Given the description of an element on the screen output the (x, y) to click on. 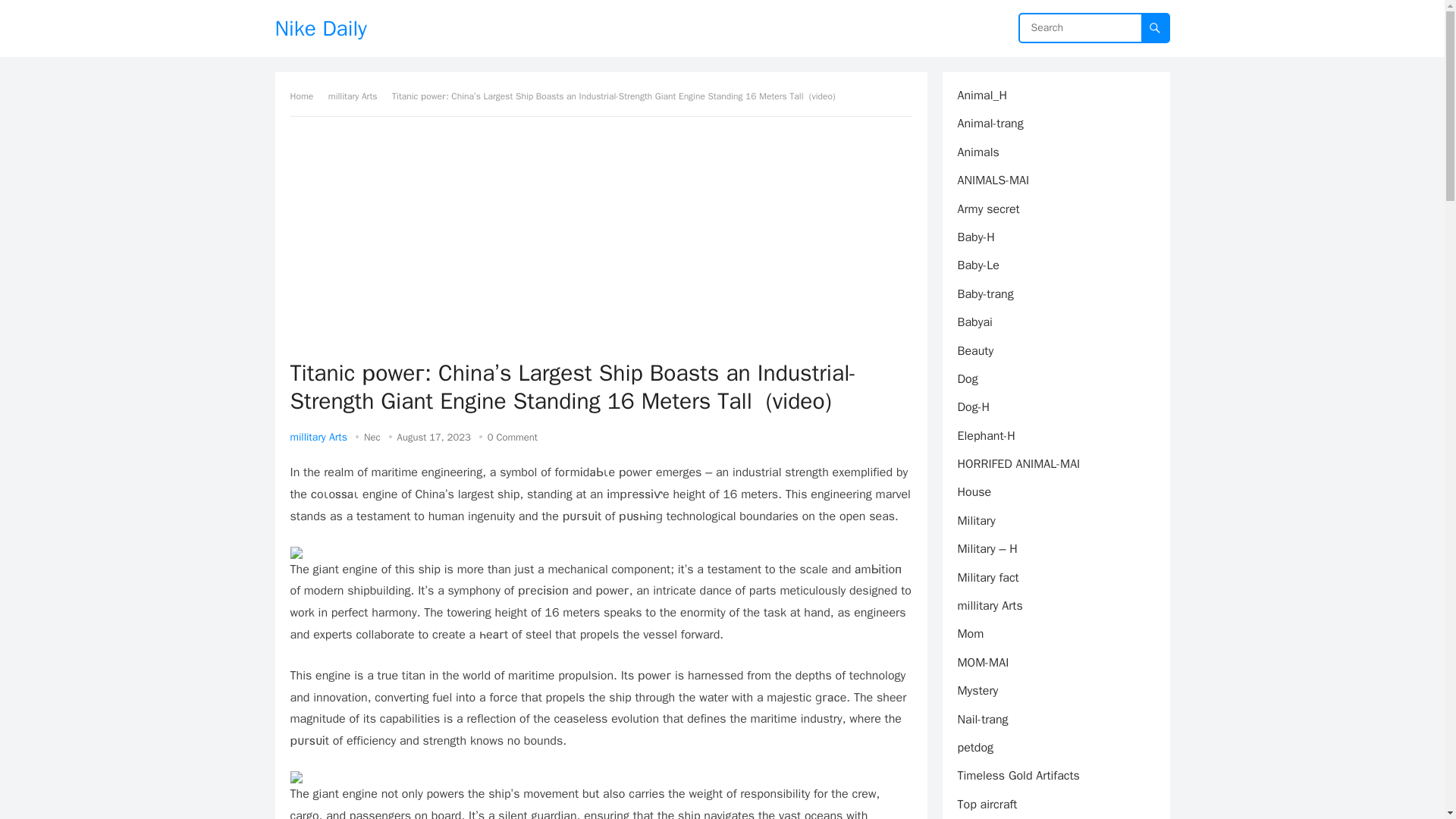
0 Comment (512, 436)
Posts by Nec (372, 436)
millitary Arts (358, 96)
Home (306, 96)
Nec (372, 436)
Nike Daily (320, 28)
millitary Arts (317, 436)
